Given the description of an element on the screen output the (x, y) to click on. 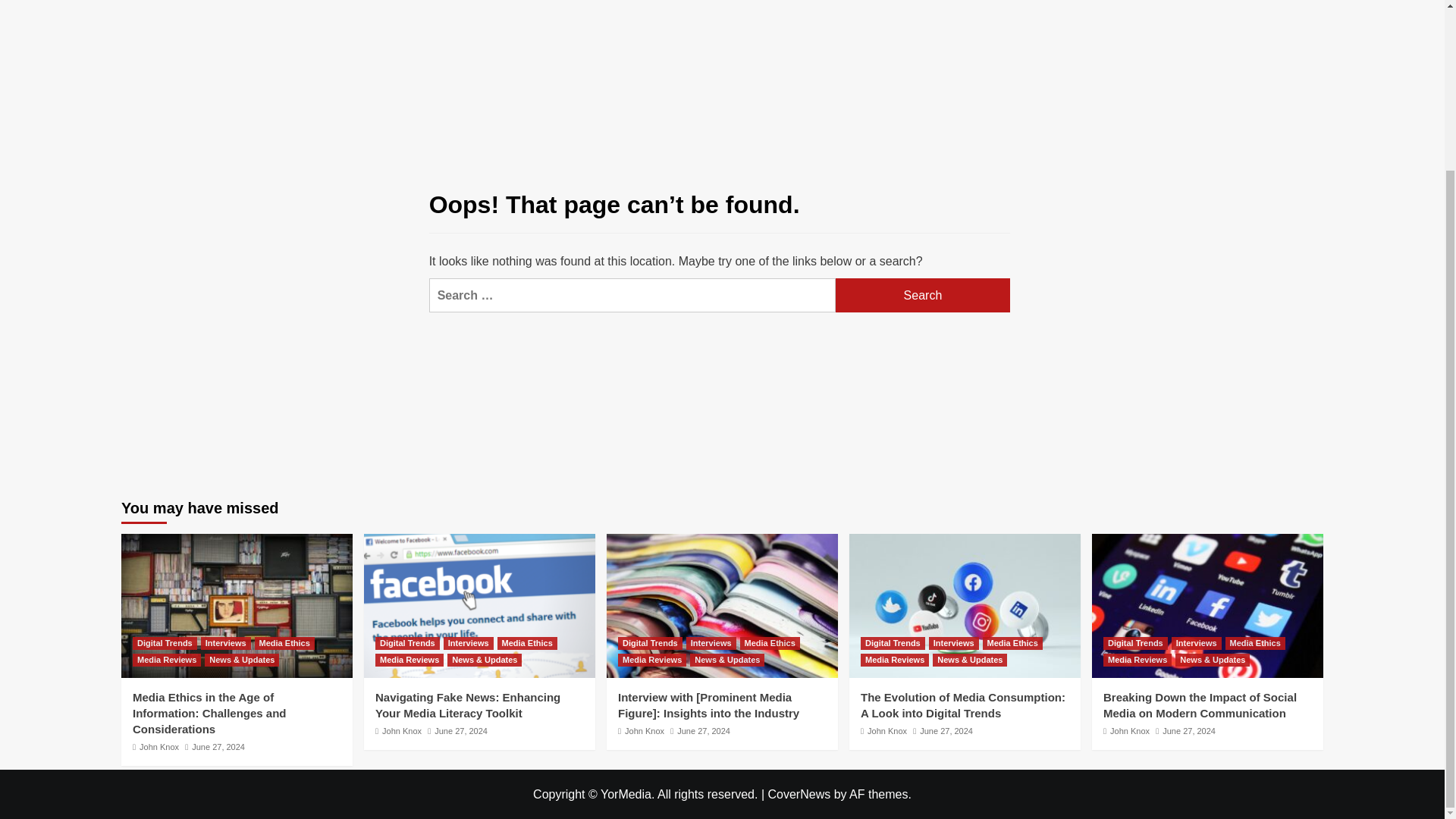
Media Reviews (651, 659)
Search (922, 295)
June 27, 2024 (460, 730)
Media Ethics (769, 643)
Media Reviews (409, 659)
Interviews (225, 643)
June 27, 2024 (218, 746)
Search (1278, 14)
Digital Trends (407, 643)
